Given the description of an element on the screen output the (x, y) to click on. 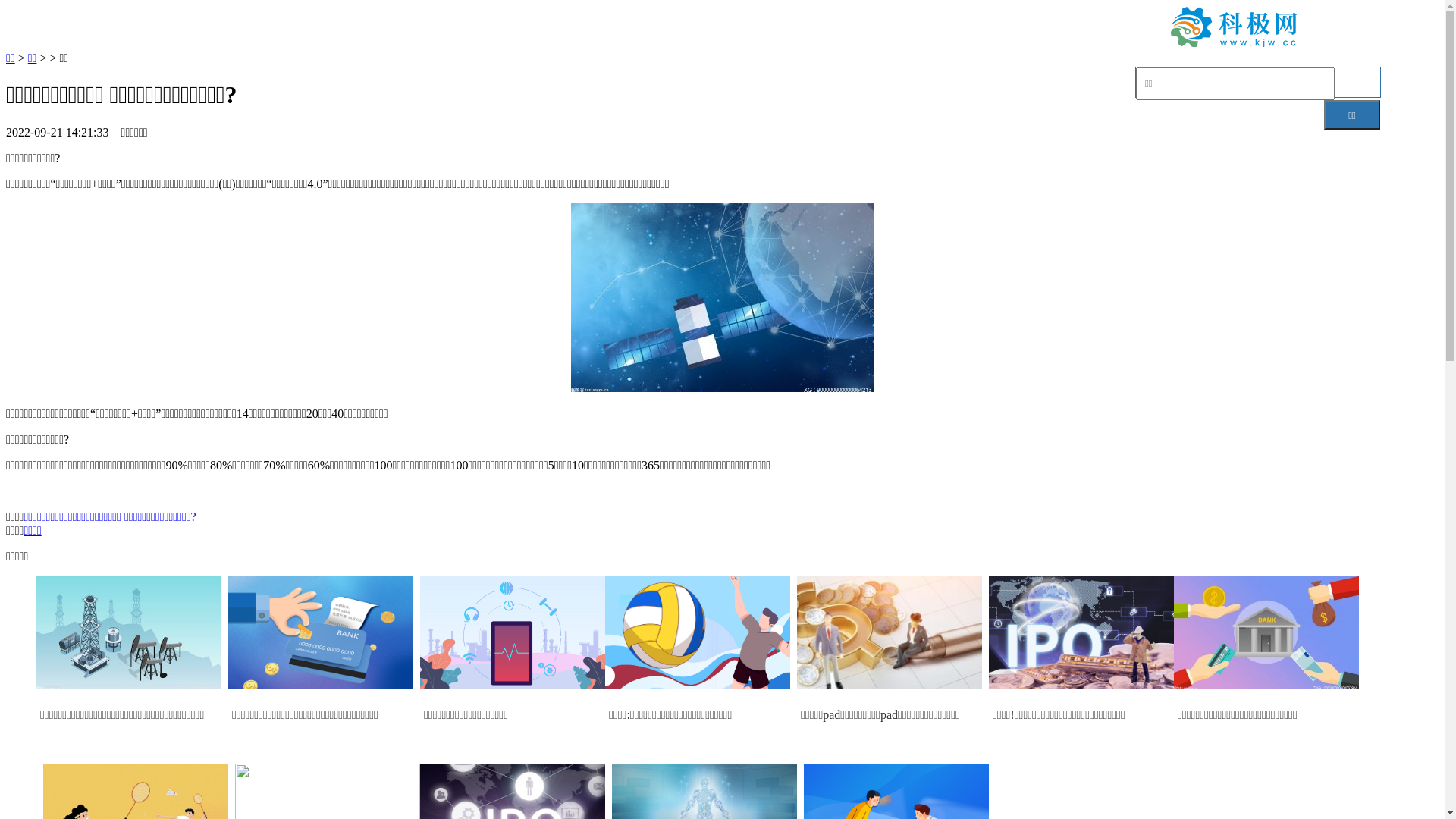
IT Element type: text (586, 28)
IT Element type: text (1129, 28)
5g Element type: text (981, 28)
